Given the description of an element on the screen output the (x, y) to click on. 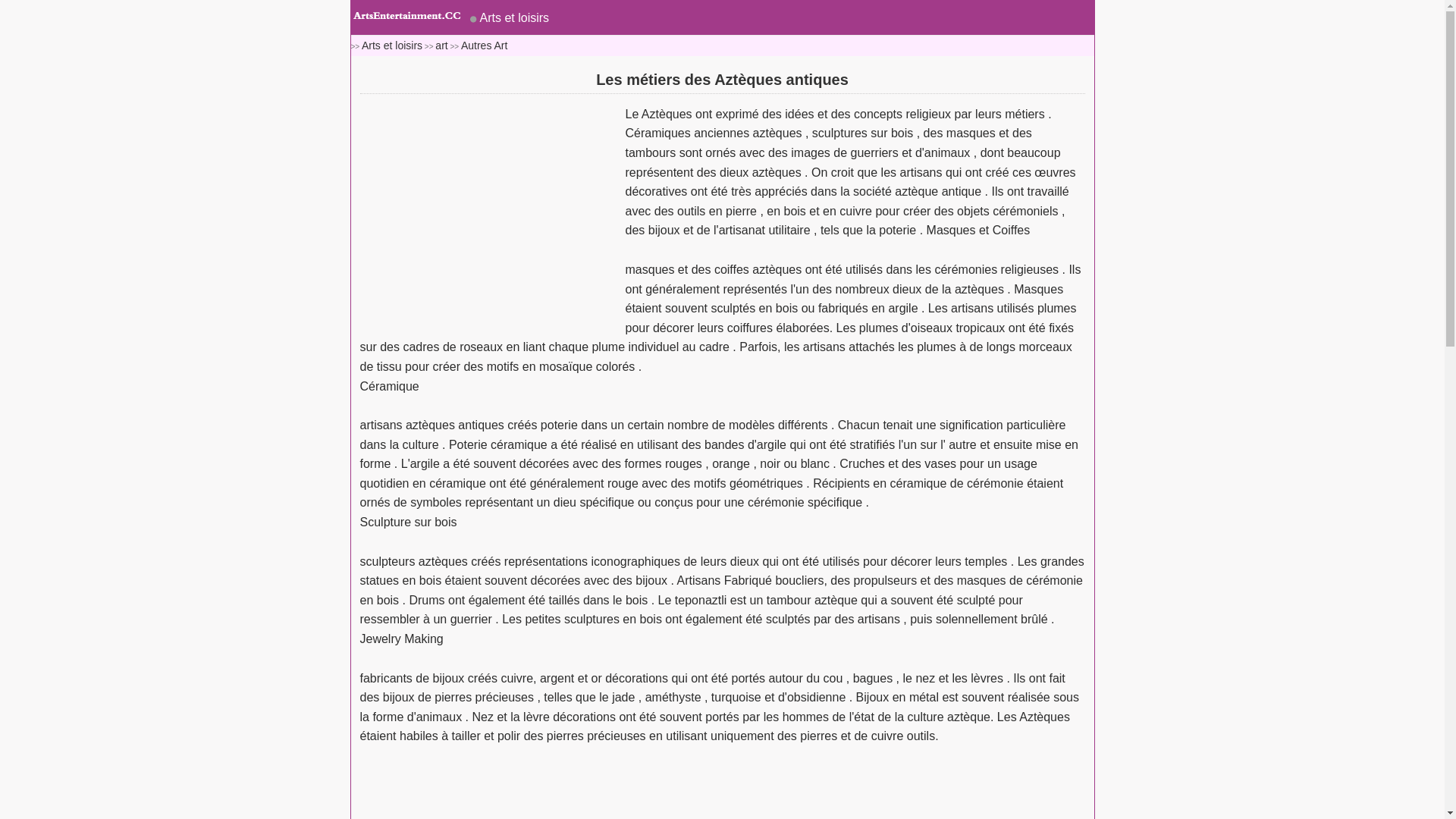
Autres Art Element type: text (484, 45)
Arts et loisirs Element type: text (391, 45)
art Element type: text (441, 45)
Arts et loisirs Element type: text (508, 17)
